Given the description of an element on the screen output the (x, y) to click on. 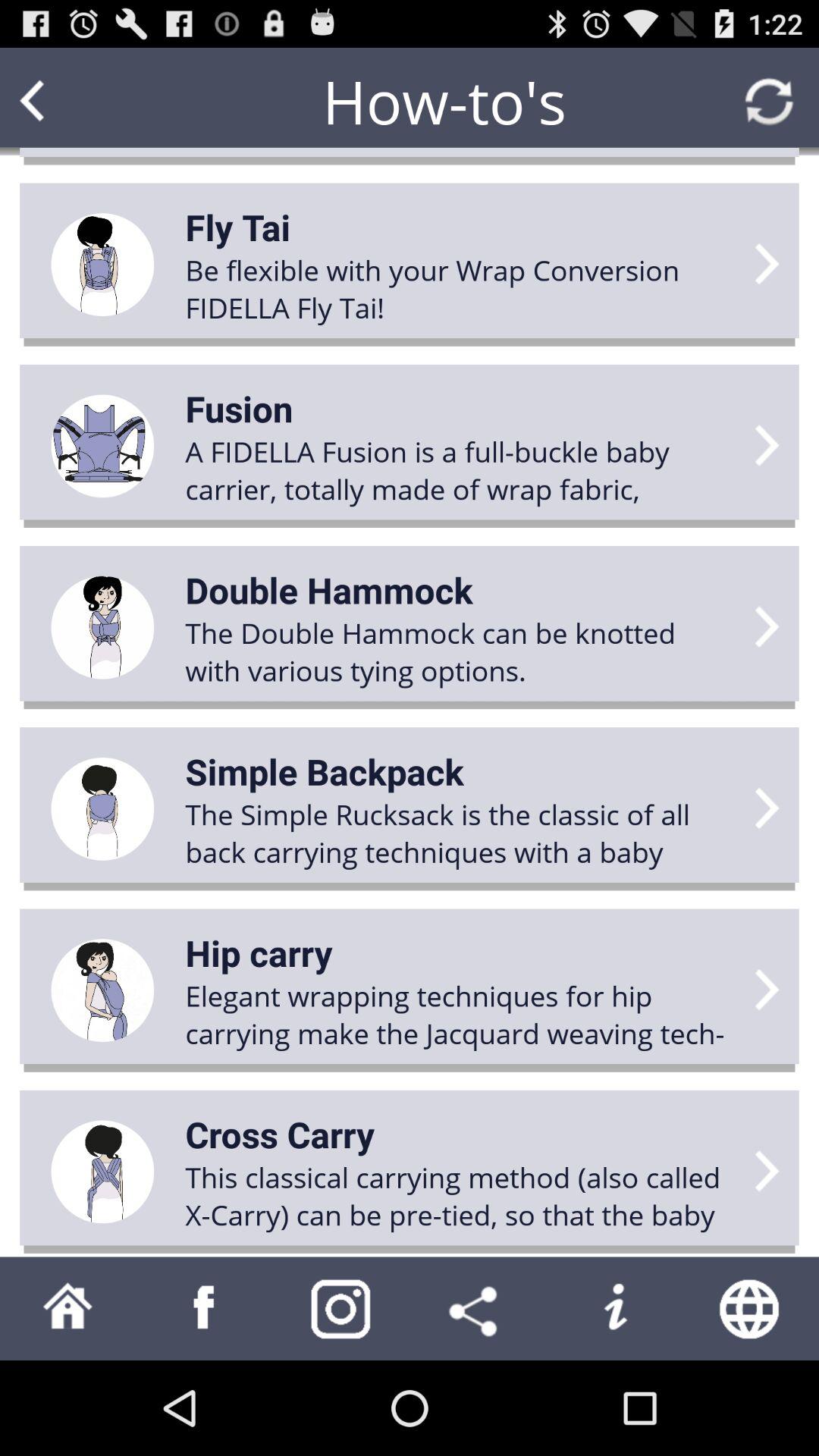
go to facebook page (204, 1308)
